Given the description of an element on the screen output the (x, y) to click on. 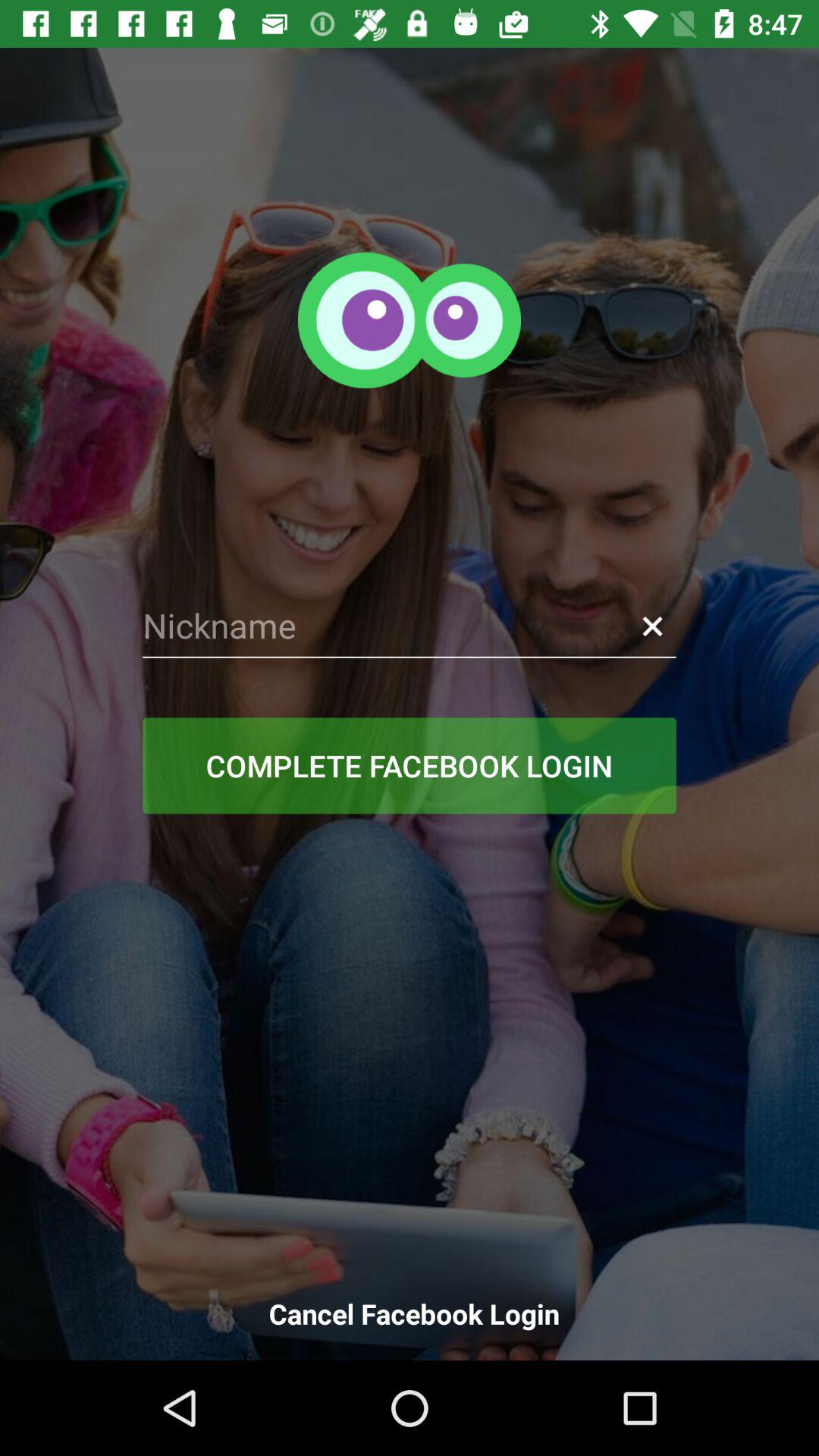
select item on the right (652, 626)
